Given the description of an element on the screen output the (x, y) to click on. 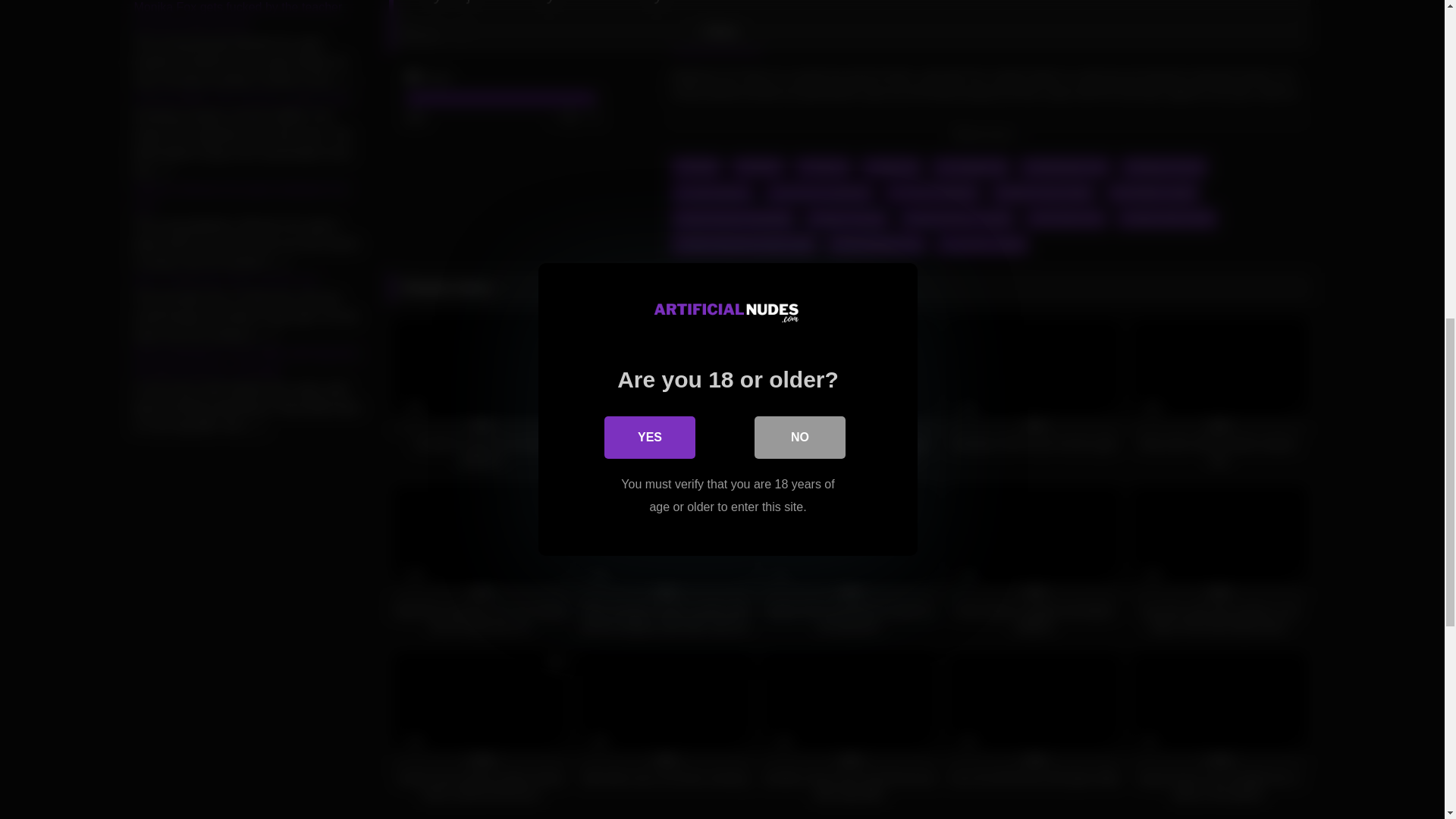
Bukkake (757, 166)
Bestblowjob Ever (1064, 166)
Fingering (821, 166)
Nude Shannon Elizabeth (732, 217)
Kat Karma Gangbang (819, 191)
Liz Kats Only4fans (932, 191)
Mariah Carey Nudes (1043, 191)
I like this (429, 34)
Read more (987, 133)
Like (429, 34)
Mochikitty Leaked (1152, 191)
About (716, 37)
Bukkake (757, 166)
Uncategorized (970, 166)
Blowjob (696, 166)
